Given the description of an element on the screen output the (x, y) to click on. 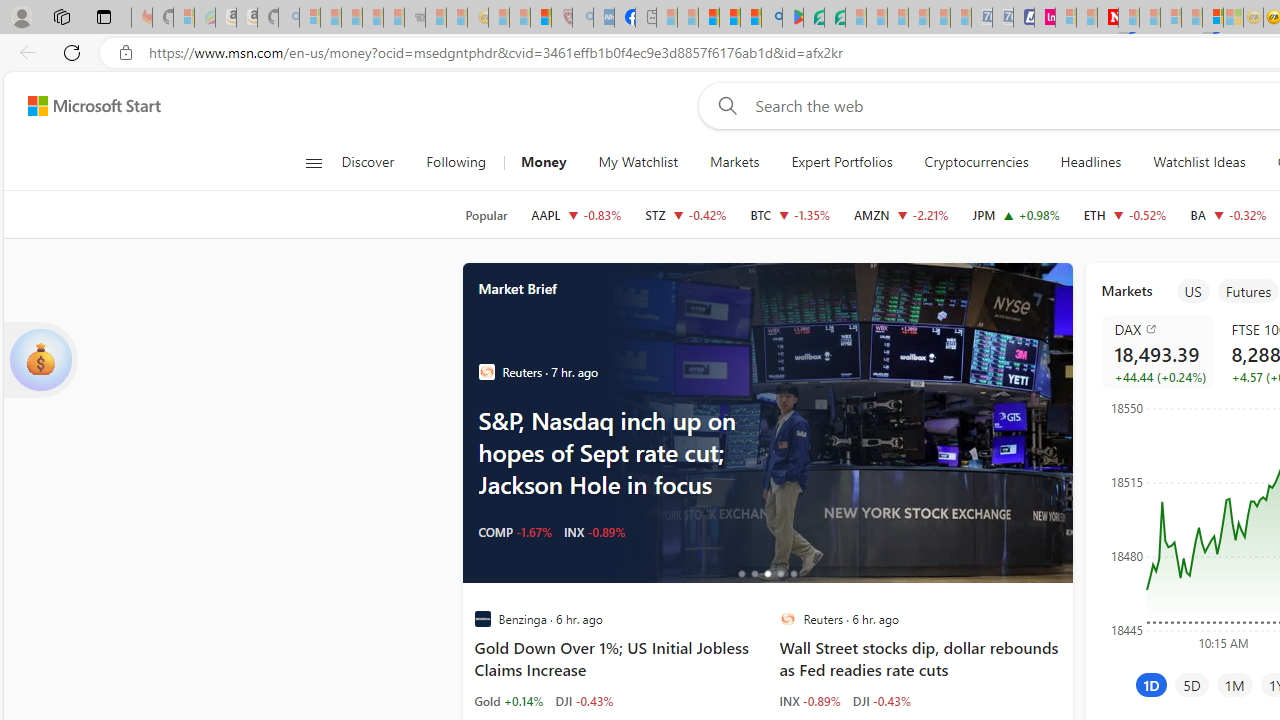
Jobs - lastminute.com Investor Portal (1044, 17)
My Watchlist (637, 162)
INX -0.89% (809, 700)
Recipes - MSN - Sleeping (499, 17)
MarketWatch (486, 372)
AMZN AMAZON.COM, INC. decrease 176.13 -3.98 -2.21% (901, 214)
Robert H. Shmerling, MD - Harvard Health - Sleeping (561, 17)
Microsoft-Report a Concern to Bing - Sleeping (184, 17)
Cheap Hotels - Save70.com - Sleeping (1002, 17)
